Given the description of an element on the screen output the (x, y) to click on. 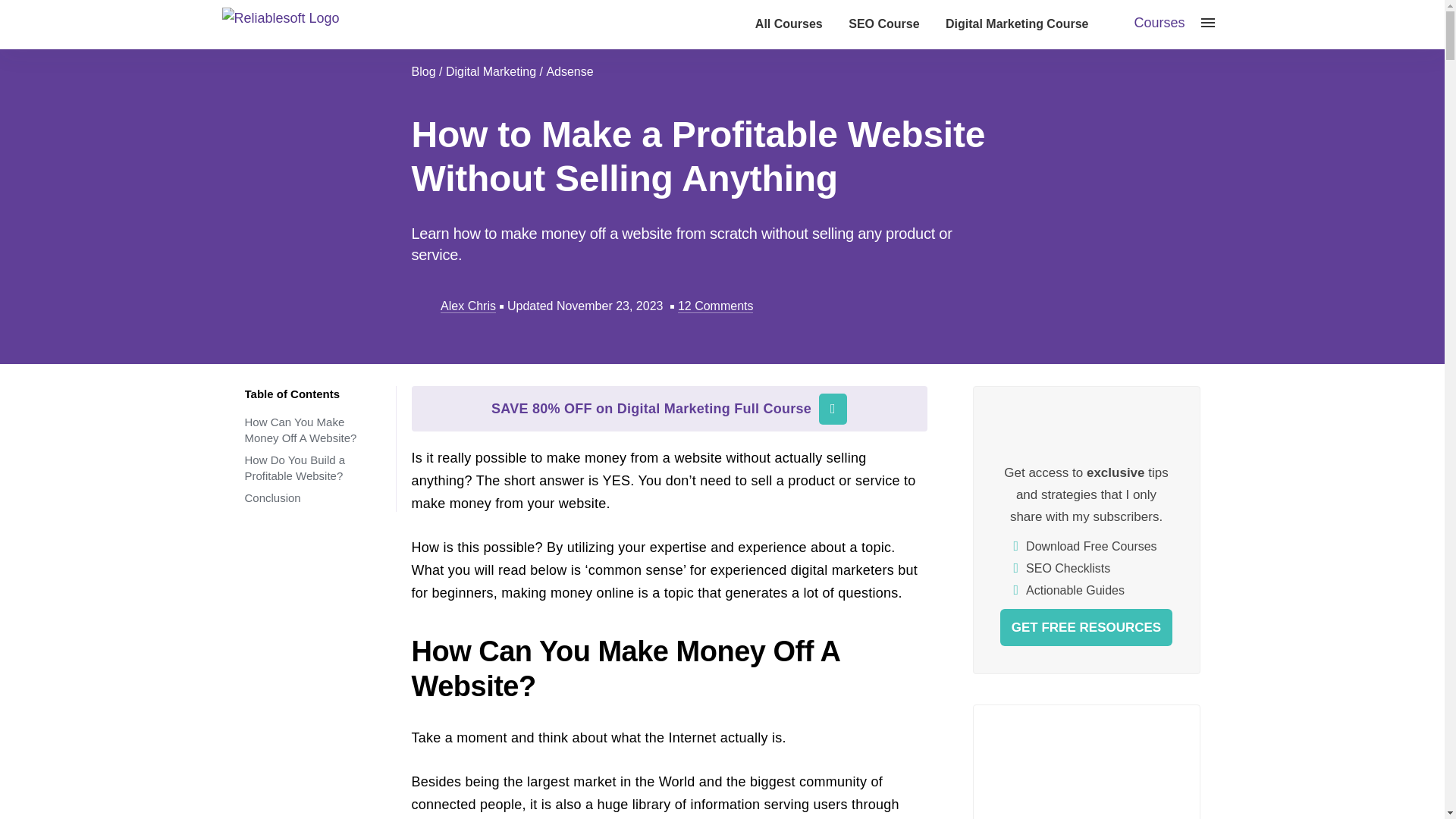
SEO Course (883, 24)
Courses (1159, 23)
Blog (422, 71)
12 Comments (716, 305)
Conclusion (271, 497)
Adsense (569, 71)
How Can You Make Money Off A Website? (300, 429)
Digital Marketing (490, 71)
All Courses (789, 24)
Digital Marketing Course (1016, 24)
Alex Chris (467, 305)
How Do You Build a Profitable Website? (294, 467)
